Given the description of an element on the screen output the (x, y) to click on. 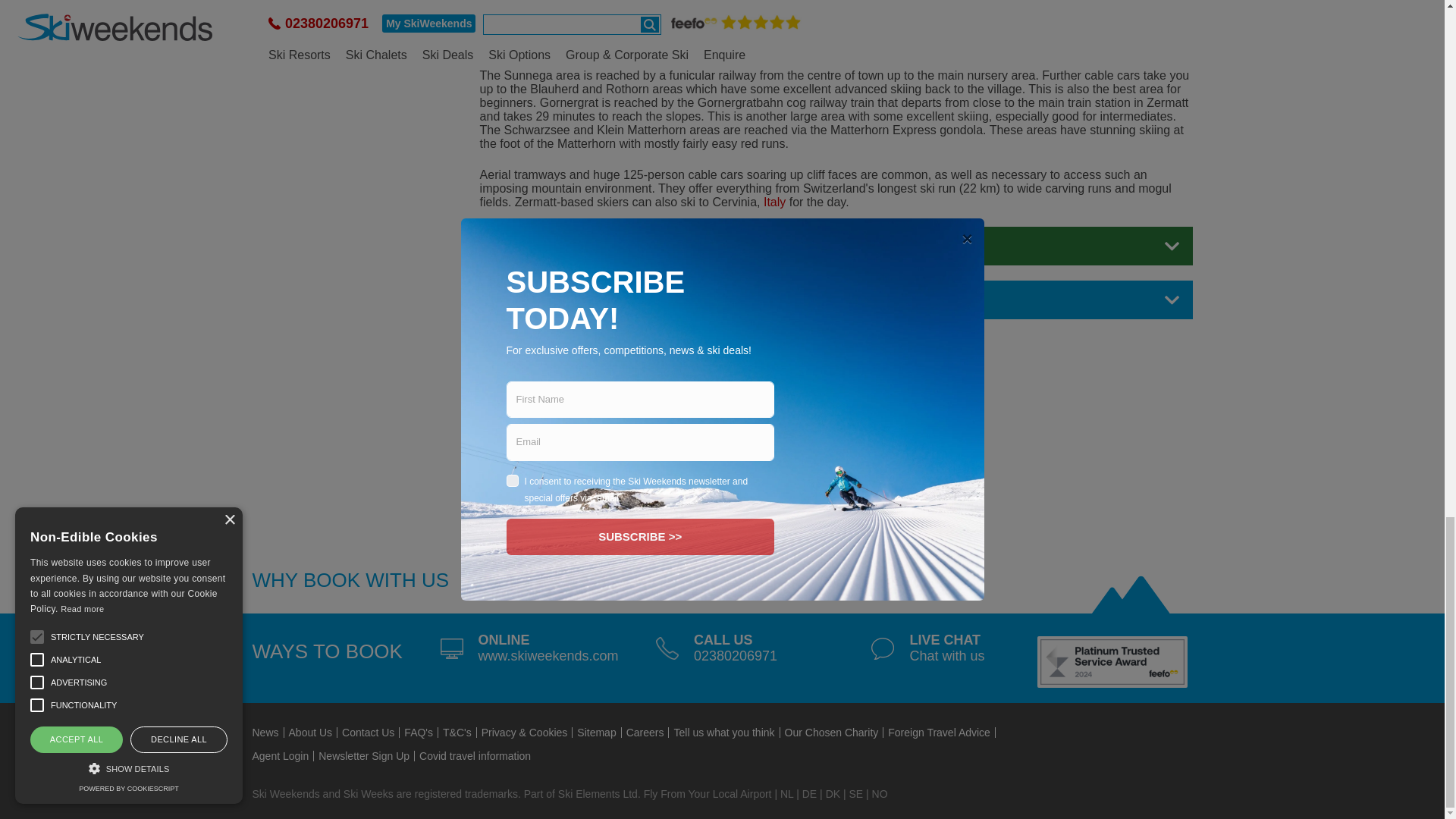
feefo (1113, 661)
ski (1129, 595)
Italy ski information  (774, 201)
